Given the description of an element on the screen output the (x, y) to click on. 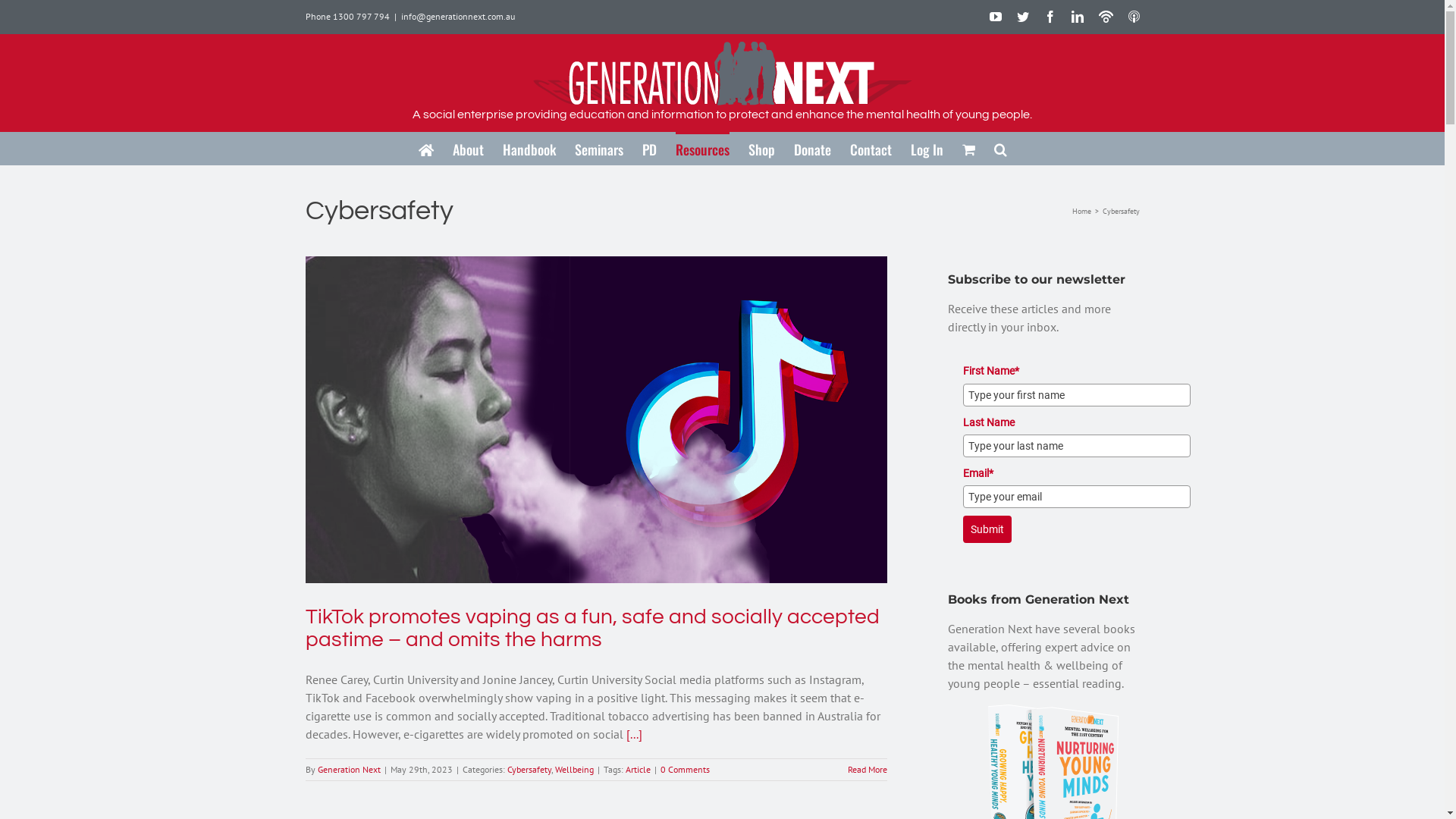
Home Element type: text (1081, 211)
Facebook Element type: text (1050, 16)
Podbean Podcasts Element type: text (1105, 16)
Cybersafety Element type: text (528, 769)
0 Comments Element type: text (684, 769)
Handbook Element type: text (528, 147)
Shop Element type: text (761, 147)
Search Element type: hover (1000, 147)
Log In Element type: text (926, 147)
About Element type: text (467, 147)
Seminars Element type: text (598, 147)
info@generationnext.com.au Element type: text (457, 15)
Contact Element type: text (870, 147)
Submit Element type: text (987, 528)
ITunes Podcasts Element type: text (1133, 16)
Read More Element type: text (867, 769)
PD Element type: text (649, 147)
Wellbeing Element type: text (574, 769)
YouTube Element type: text (995, 16)
Donate Element type: text (812, 147)
[...] Element type: text (634, 733)
Twitter Element type: text (1022, 16)
LinkedIn Element type: text (1077, 16)
Article Element type: text (636, 769)
Resources Element type: text (702, 147)
Generation Next Element type: text (347, 769)
